Given the description of an element on the screen output the (x, y) to click on. 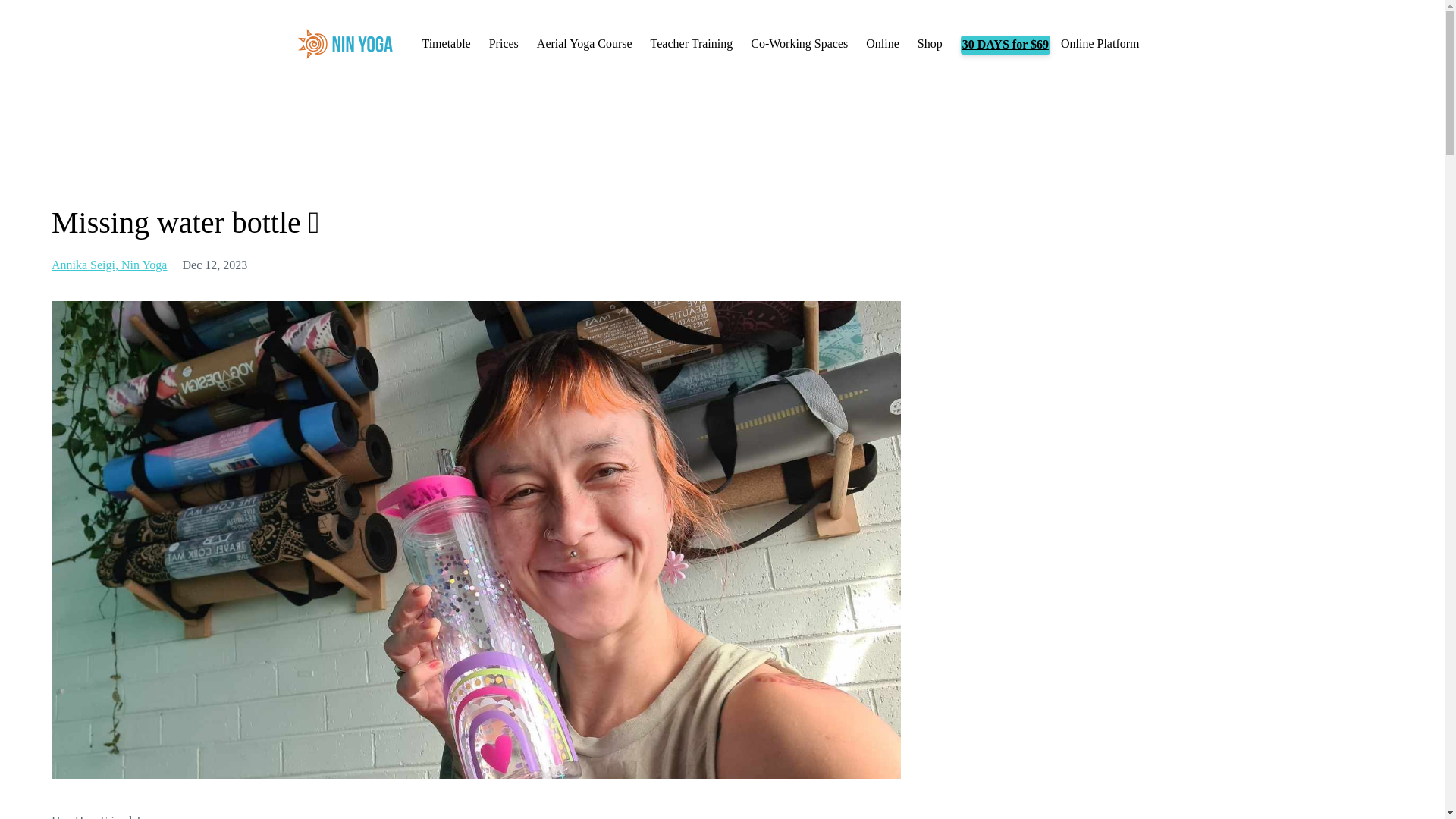
Annika Seigi (85, 264)
Aerial Yoga Course (584, 43)
Nin Yoga (143, 264)
Online (882, 43)
Timetable (446, 43)
Teacher Training (691, 43)
Online Platform (1100, 43)
Prices (503, 43)
Co-Working Spaces (799, 43)
